Given the description of an element on the screen output the (x, y) to click on. 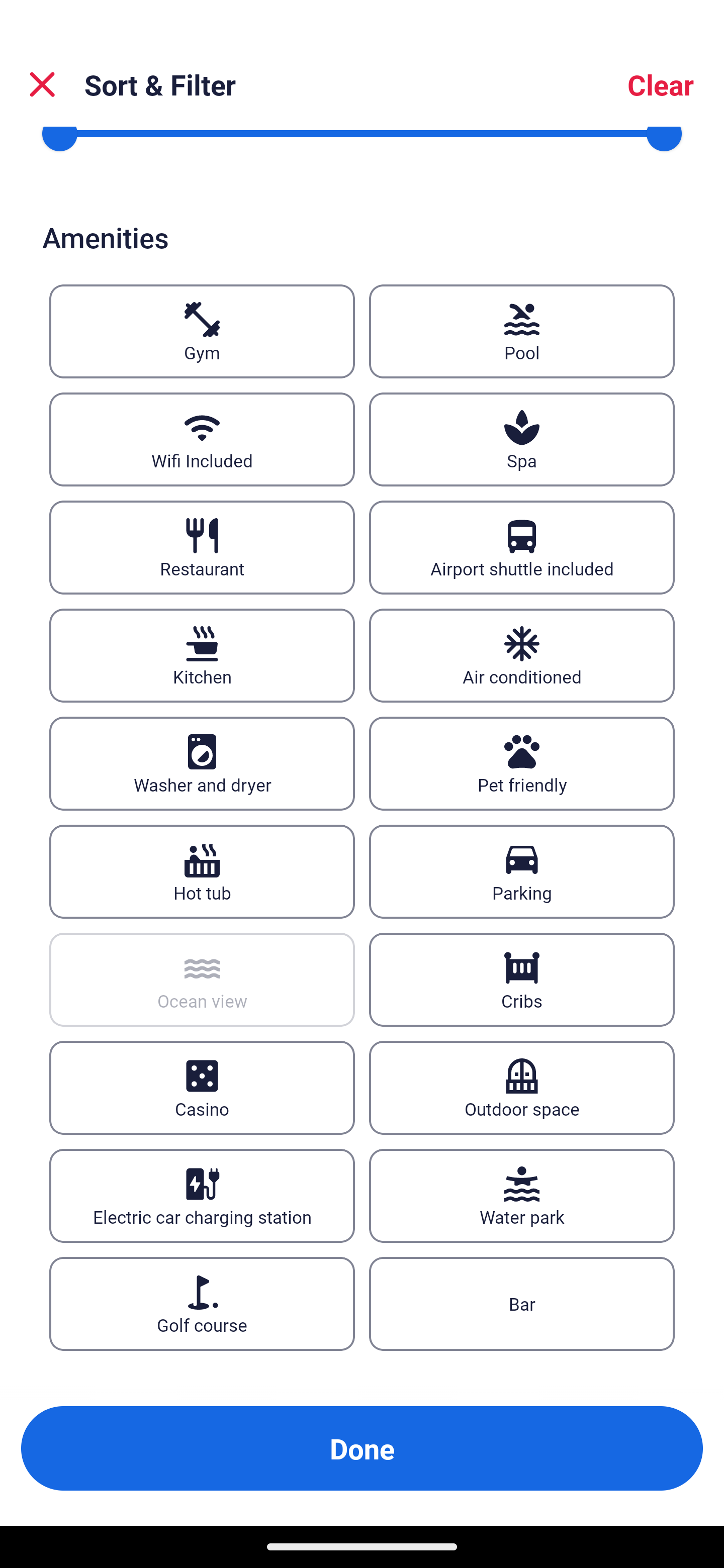
Close Sort and Filter (42, 84)
Clear (660, 84)
Gym (201, 330)
Pool (521, 330)
Wifi Included (201, 439)
Spa (521, 439)
Restaurant (201, 547)
Airport shuttle included (521, 547)
Kitchen (201, 655)
Air conditioned (521, 655)
Washer and dryer (201, 763)
Pet friendly (521, 763)
Hot tub (201, 871)
Parking (521, 871)
Ocean view (201, 979)
Cribs (521, 979)
Casino (201, 1088)
Outdoor space (521, 1088)
Electric car charging station (201, 1196)
Water park (521, 1196)
Golf course (201, 1304)
Bar (521, 1304)
Apply and close Sort and Filter Done (361, 1448)
